Given the description of an element on the screen output the (x, y) to click on. 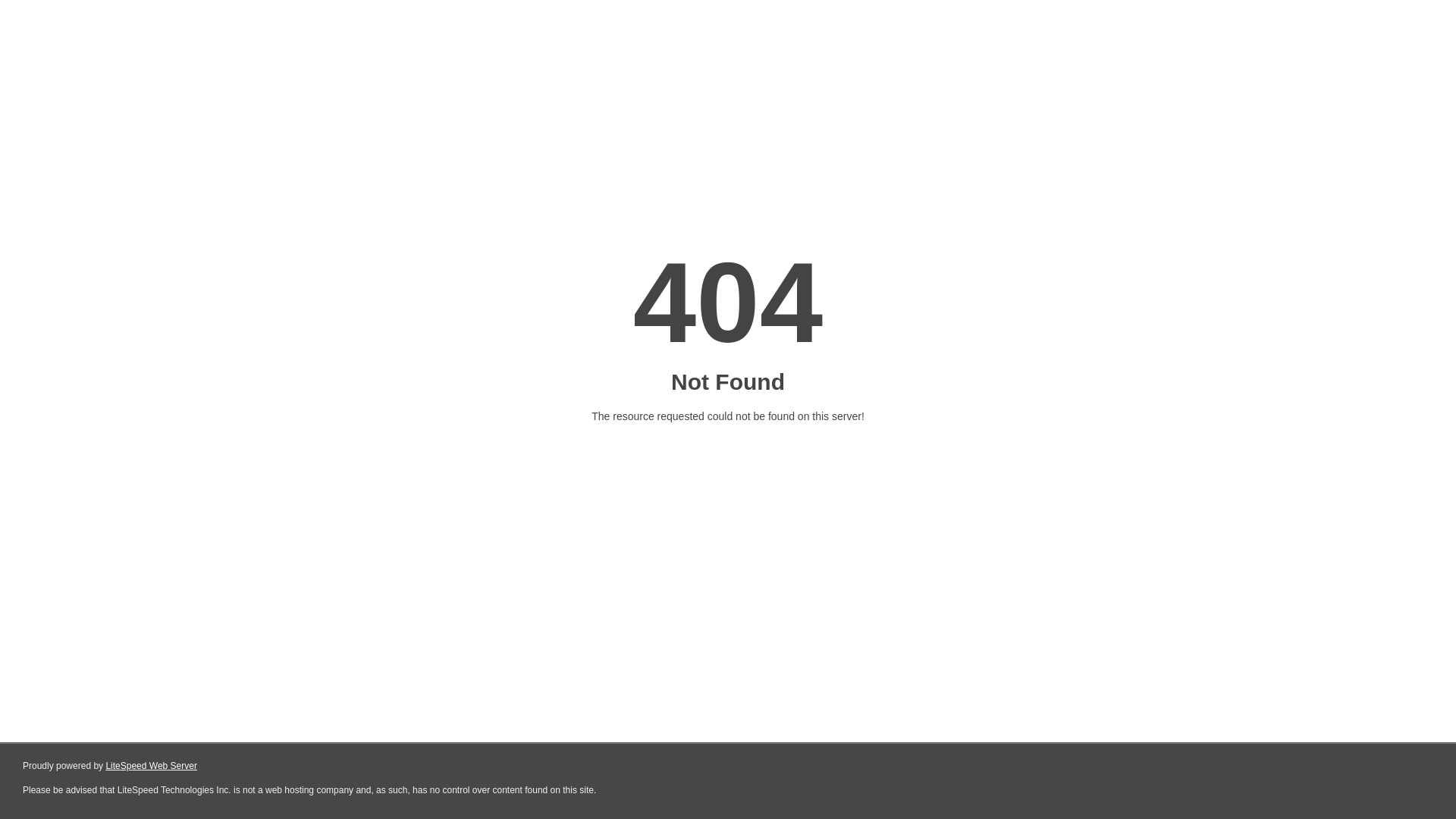
LiteSpeed Web Server Element type: text (151, 765)
